Given the description of an element on the screen output the (x, y) to click on. 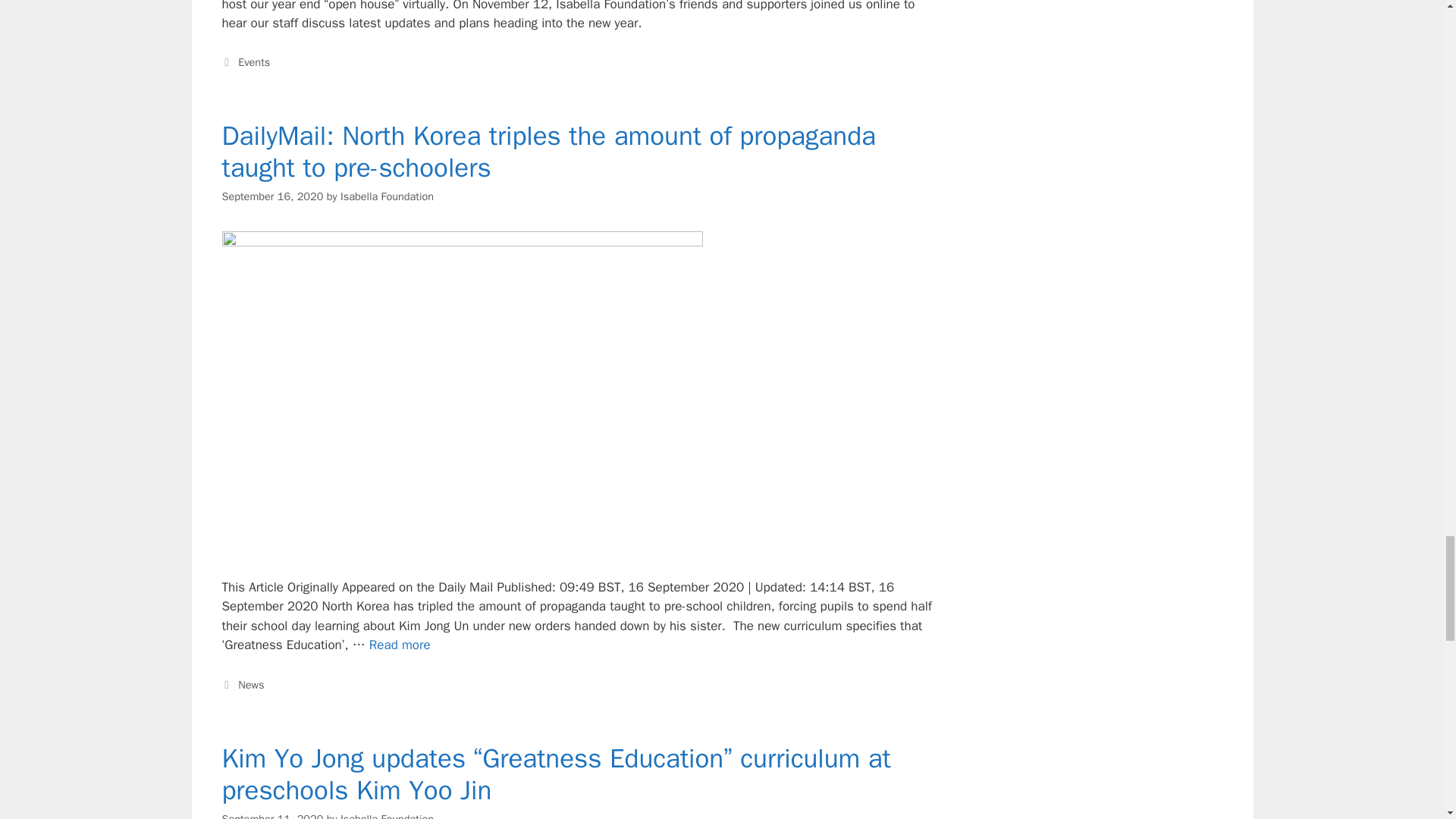
Events (253, 61)
Isabella Foundation (386, 196)
View all posts by Isabella Foundation (386, 815)
View all posts by Isabella Foundation (386, 196)
